Given the description of an element on the screen output the (x, y) to click on. 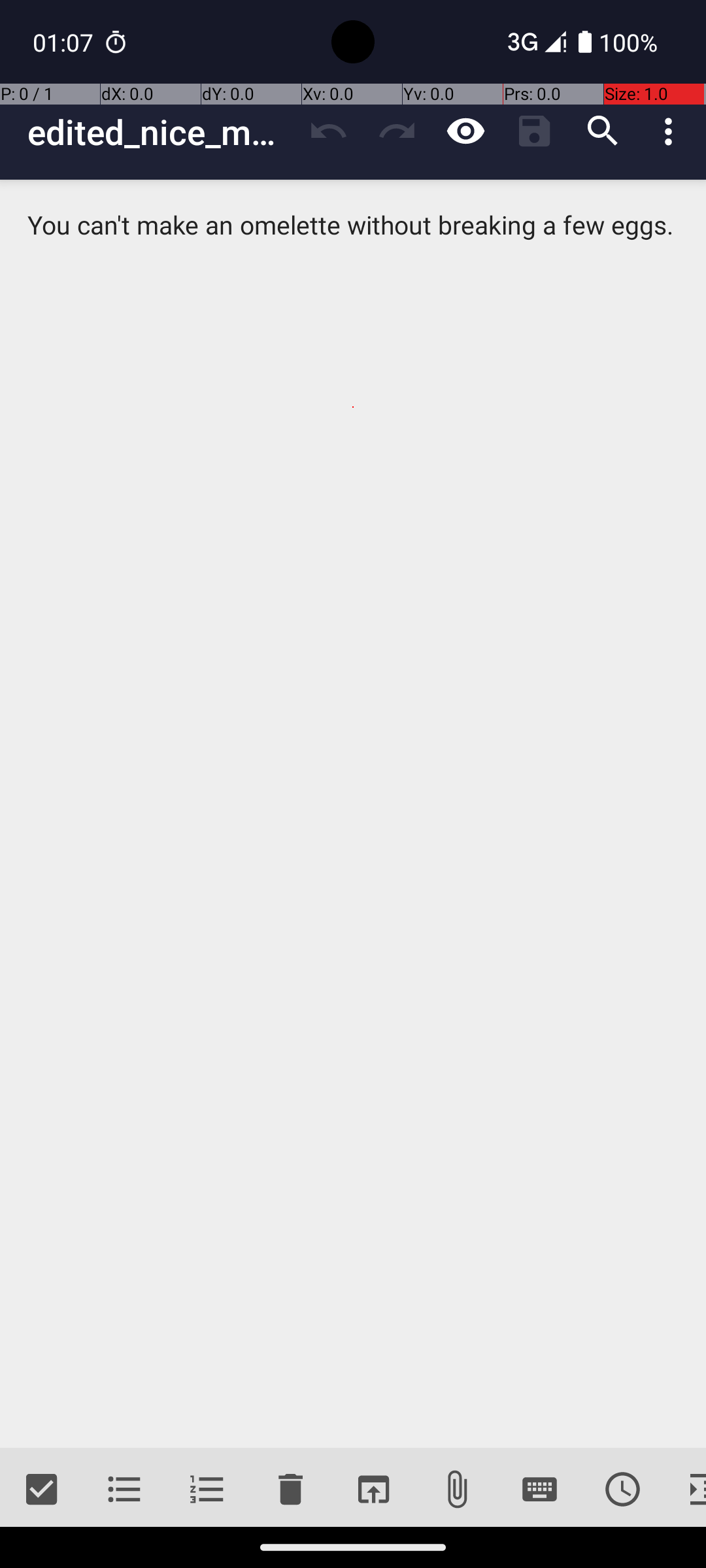
edited_nice_monkey Element type: android.widget.TextView (160, 131)
You can't make an omelette without breaking a few eggs.
 Element type: android.widget.EditText (353, 813)
Ordered list Element type: android.widget.ImageView (207, 1488)
Indent Element type: android.widget.ImageView (685, 1488)
01:07 Element type: android.widget.TextView (64, 41)
